Given the description of an element on the screen output the (x, y) to click on. 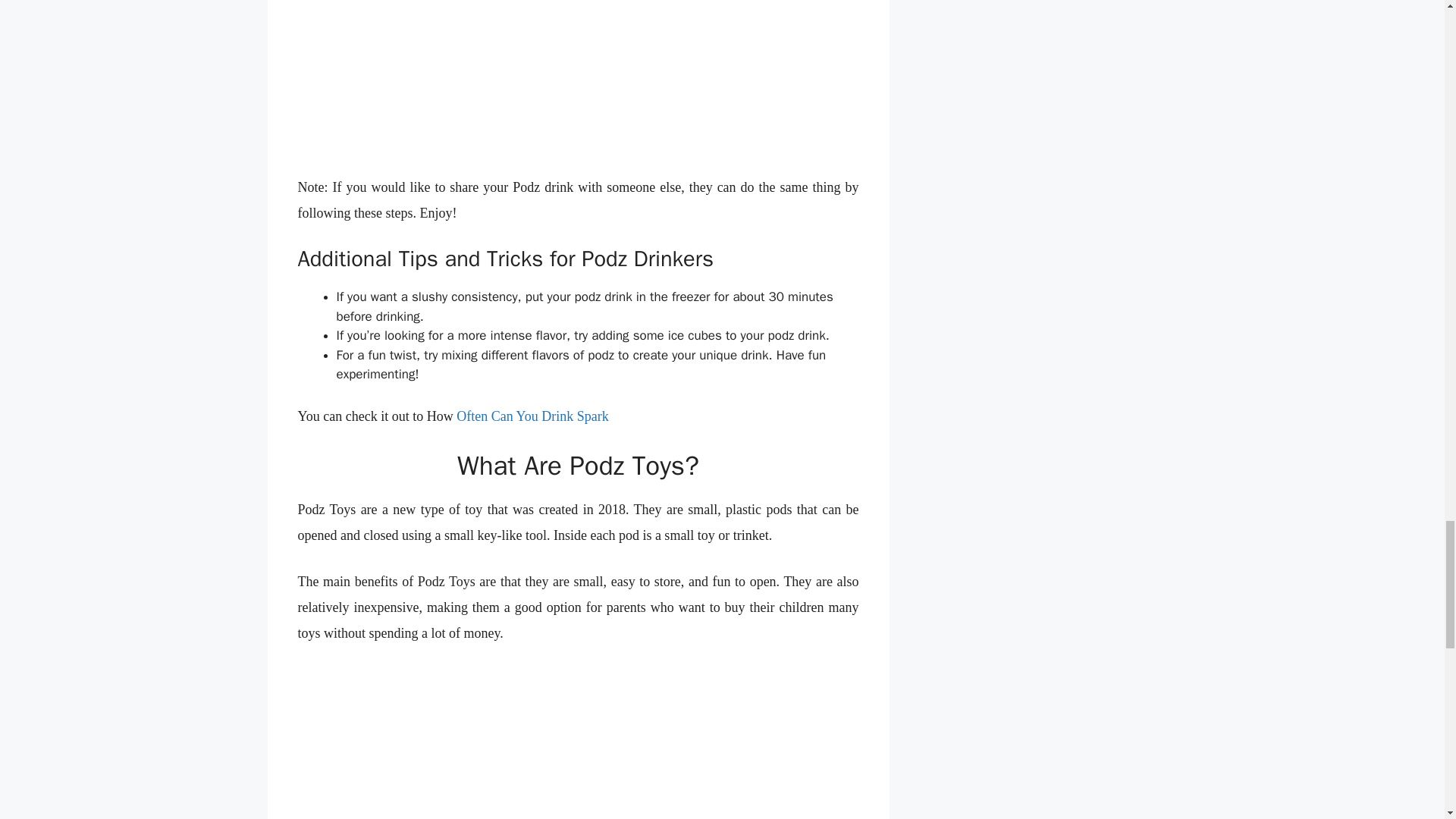
Often Can You Drink Spark (532, 416)
